Given the description of an element on the screen output the (x, y) to click on. 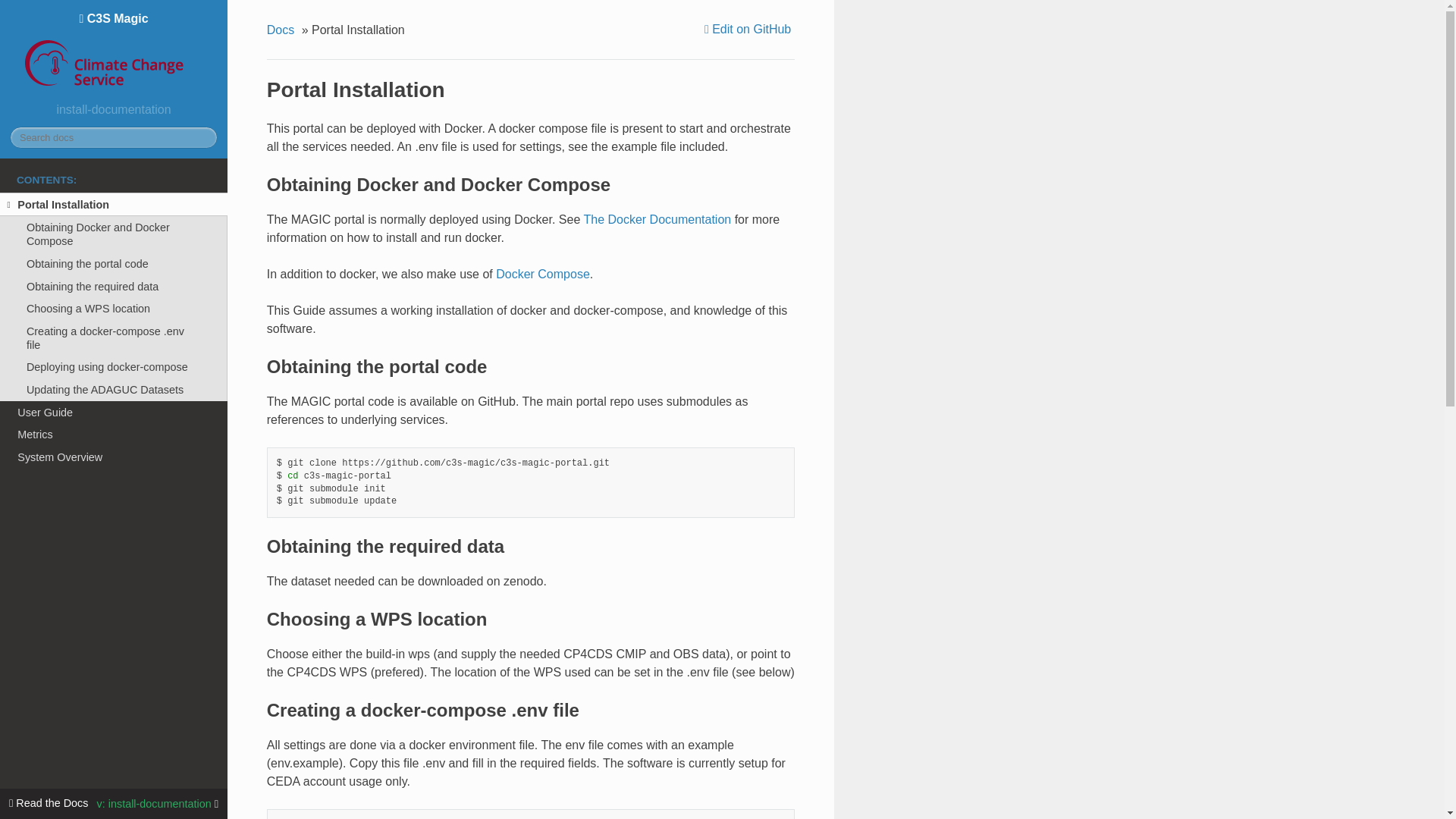
Obtaining the portal code (113, 263)
Docs (282, 29)
User Guide (113, 412)
System Overview (113, 456)
Deploying using docker-compose (113, 367)
Portal Installation (113, 204)
Choosing a WPS location (113, 308)
The Docker Documentation (656, 219)
Creating a docker-compose .env file (113, 338)
Metrics (113, 434)
